Given the description of an element on the screen output the (x, y) to click on. 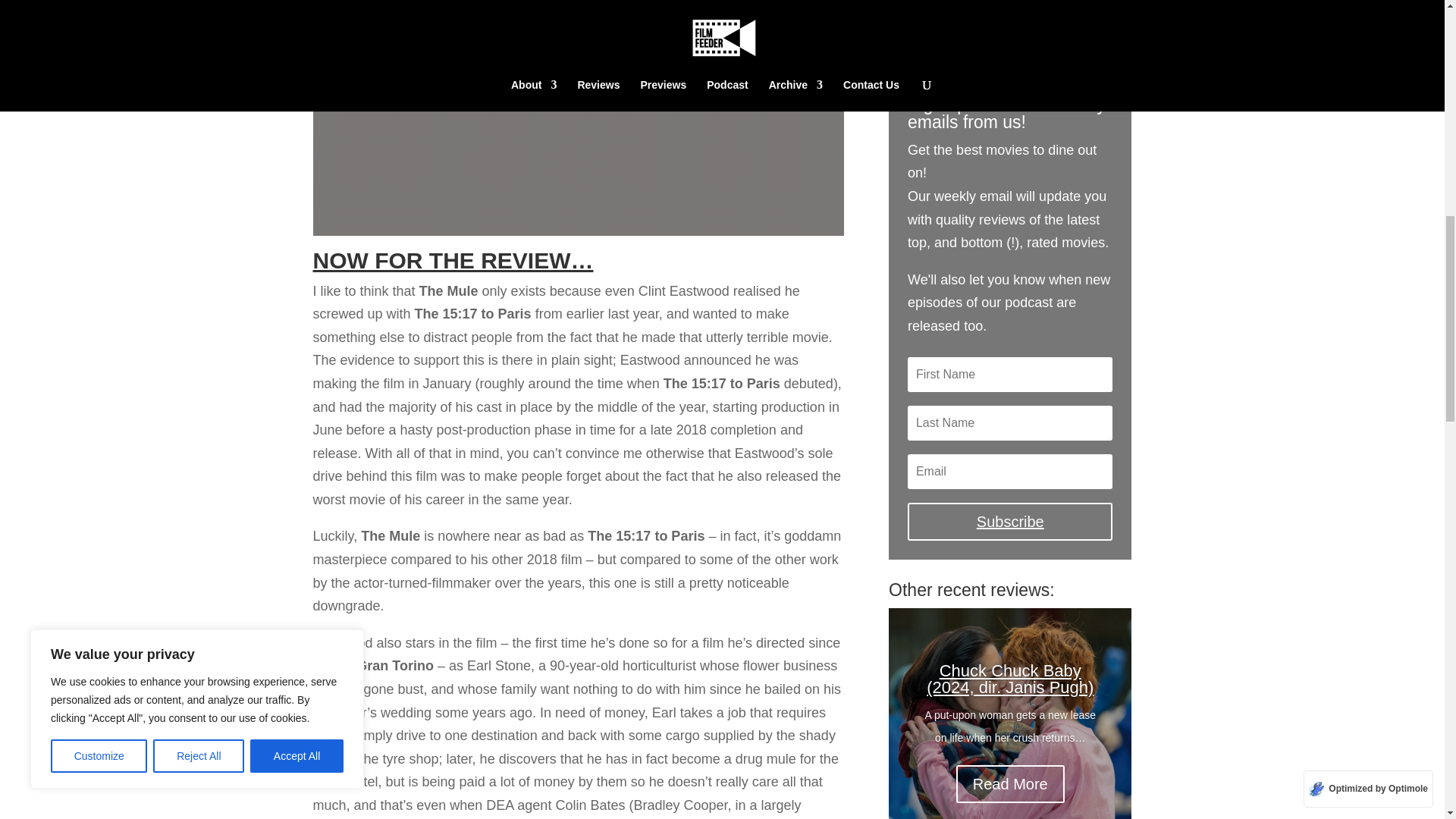
SUPPORT US ON PATREON (1009, 27)
